Given the description of an element on the screen output the (x, y) to click on. 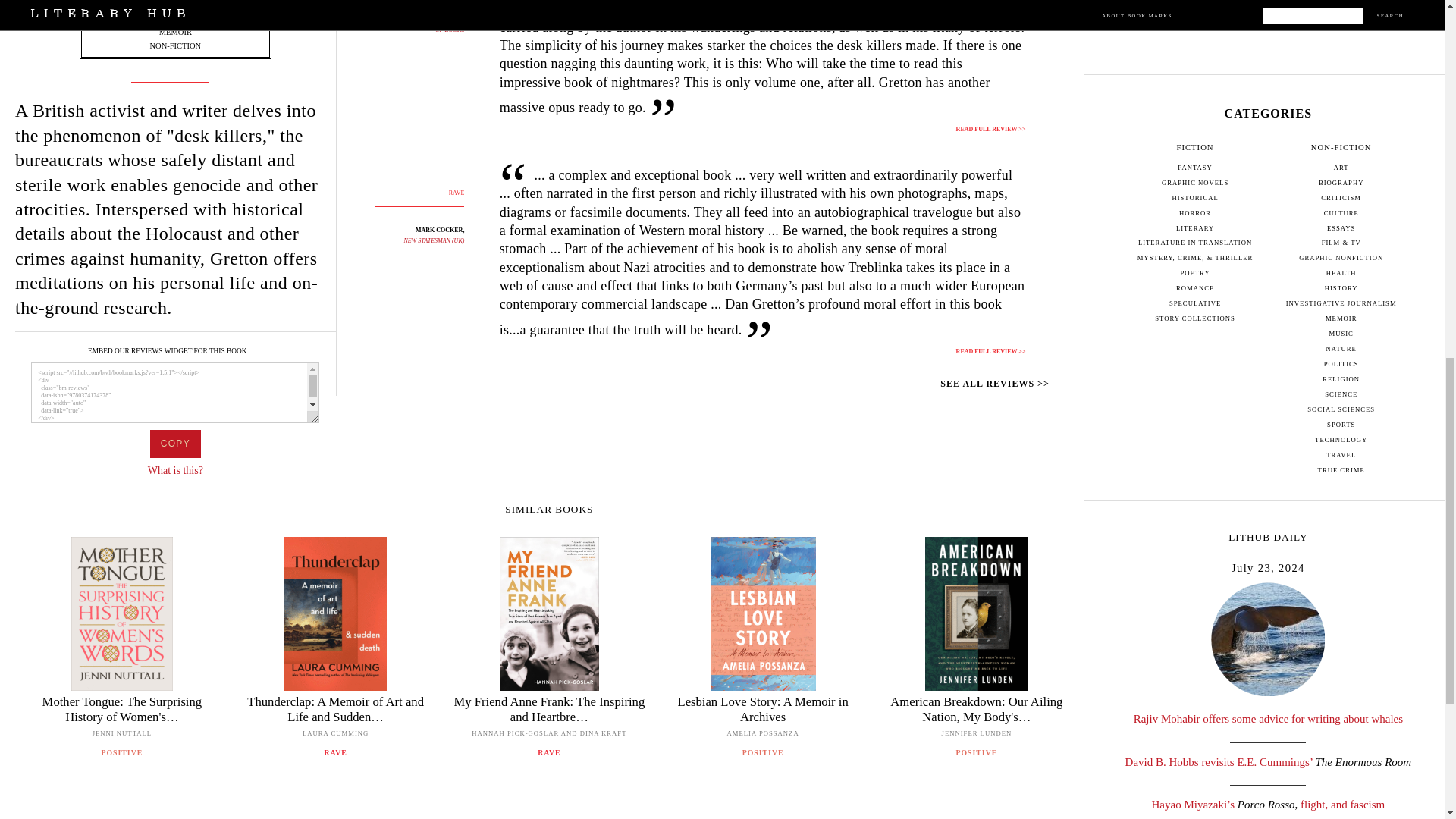
MEMOIR (175, 31)
CHRIS RUTLEDGE, (435, 8)
MARK COCKER, (439, 229)
WASHINGTON INDEPENDENT REVIEW OF BOOKS (411, 24)
HISTORY (175, 17)
What is this? (175, 470)
Sign up (1267, 4)
NON-FICTION (174, 45)
Copy (174, 443)
